Given the description of an element on the screen output the (x, y) to click on. 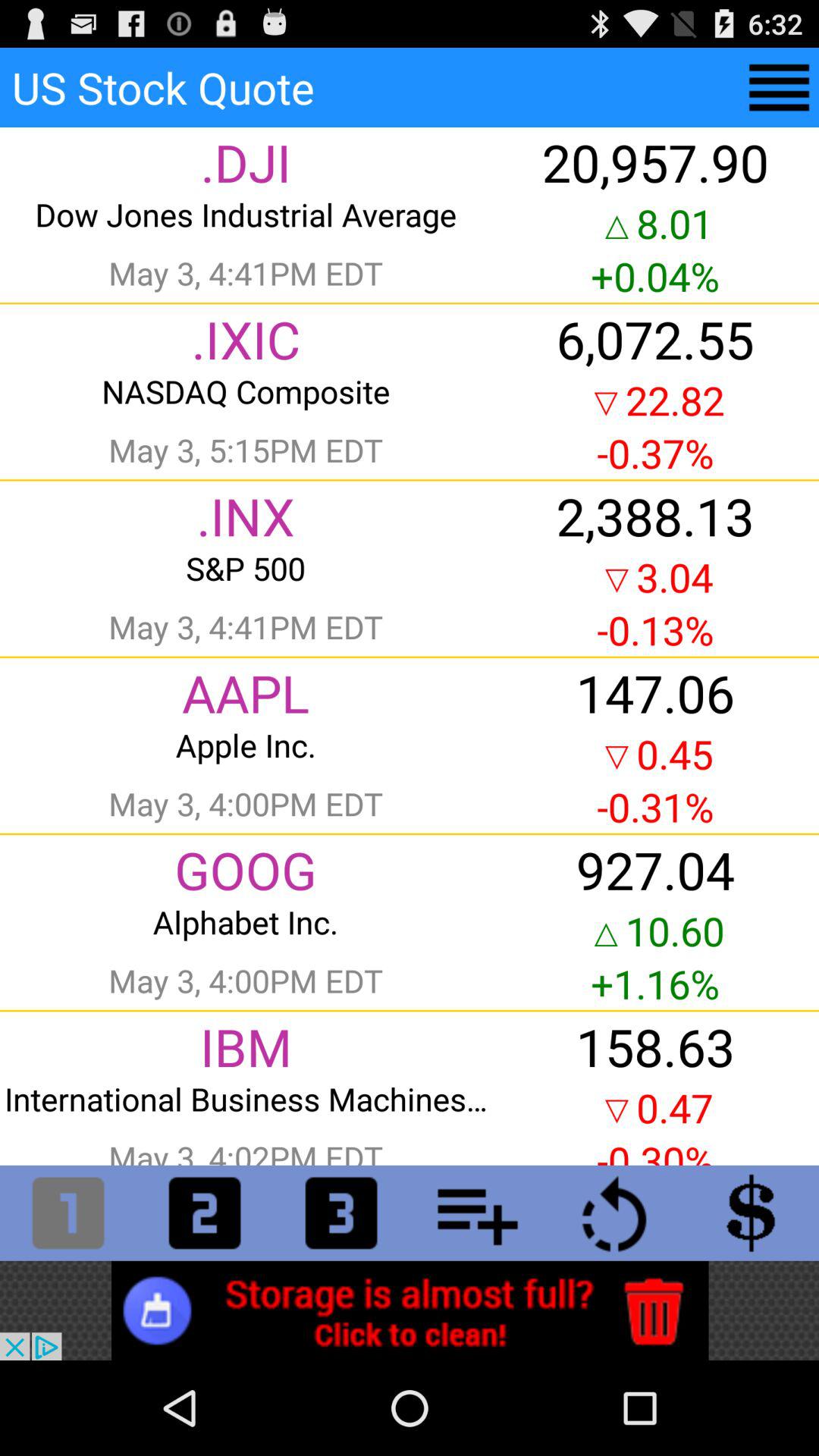
number (204, 1212)
